Given the description of an element on the screen output the (x, y) to click on. 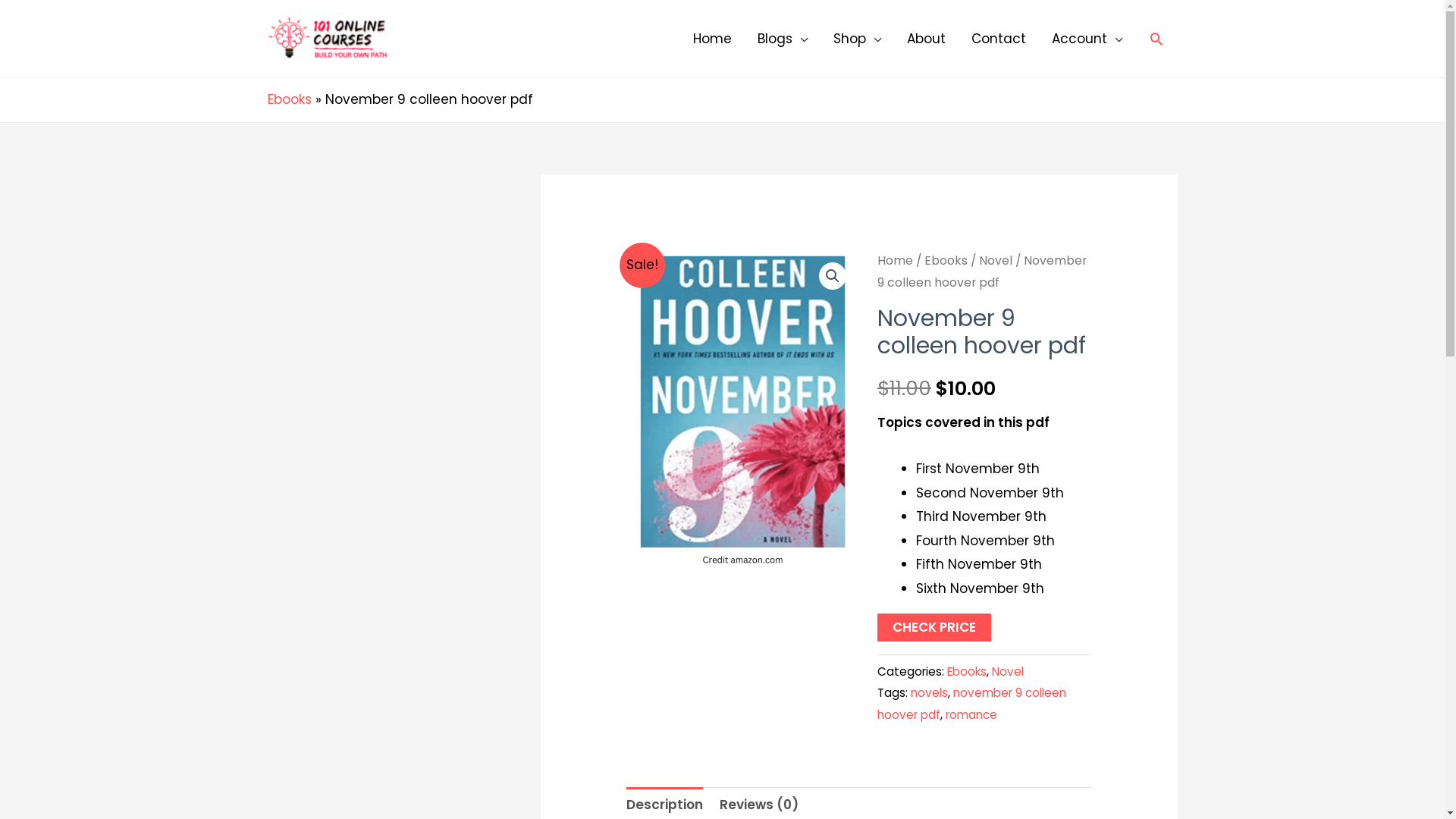
Home Element type: text (711, 38)
Ebooks Element type: text (945, 260)
Contact Element type: text (998, 38)
Ebooks Element type: text (966, 671)
Search Element type: text (1156, 38)
CHECK PRICE Element type: text (934, 627)
Home Element type: text (895, 260)
Novel Element type: text (1007, 671)
Shop Element type: text (857, 38)
About Element type: text (925, 38)
Ebooks Element type: text (288, 99)
november 9 colleen hoover pdf Element type: hover (742, 413)
romance Element type: text (971, 714)
Account Element type: text (1086, 38)
novels Element type: text (928, 692)
Blogs Element type: text (782, 38)
Novel Element type: text (995, 260)
november 9 colleen hoover pdf Element type: text (971, 702)
